Given the description of an element on the screen output the (x, y) to click on. 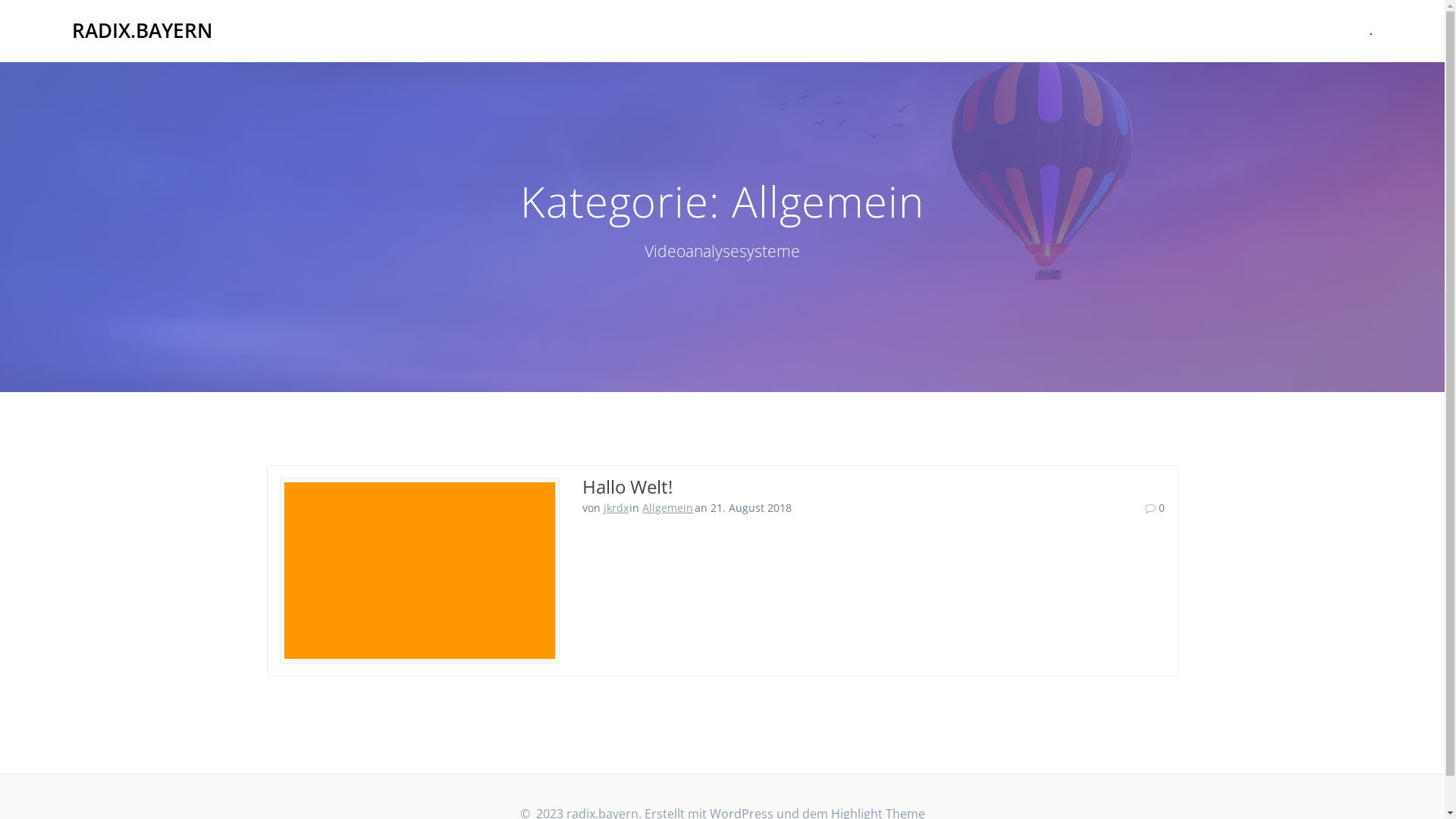
. Element type: text (1371, 30)
Zum Inhalt springen Element type: text (0, 0)
RADIX.BAYERN Element type: text (142, 30)
jkrdx Element type: text (615, 507)
Allgemein Element type: text (667, 507)
Hallo Welt! Element type: text (627, 485)
